Given the description of an element on the screen output the (x, y) to click on. 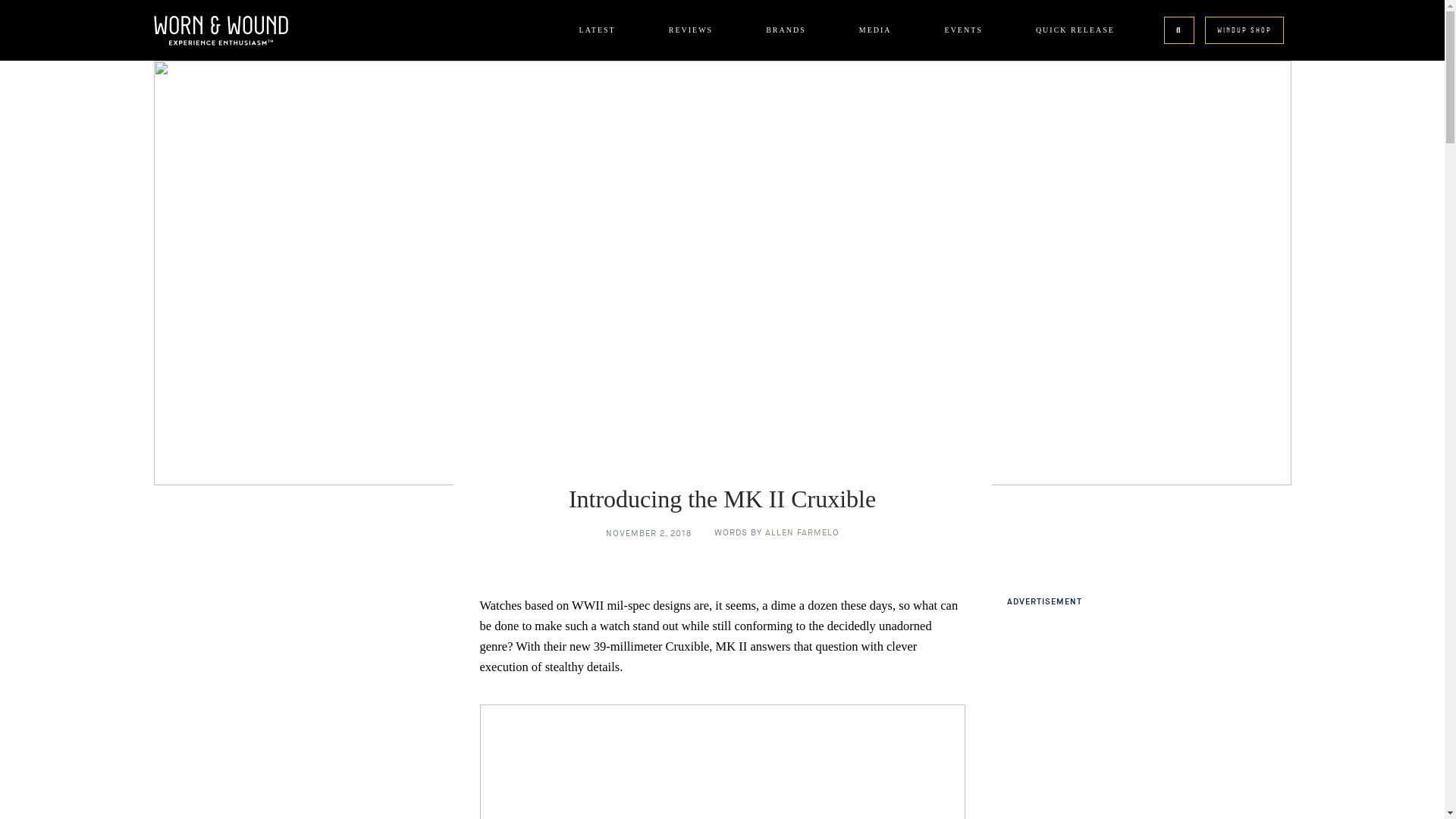
REVIEWS (690, 30)
3rd party ad content (1225, 714)
LATEST (597, 30)
BRANDS (785, 30)
View more posts from November 2018 (647, 533)
